Given the description of an element on the screen output the (x, y) to click on. 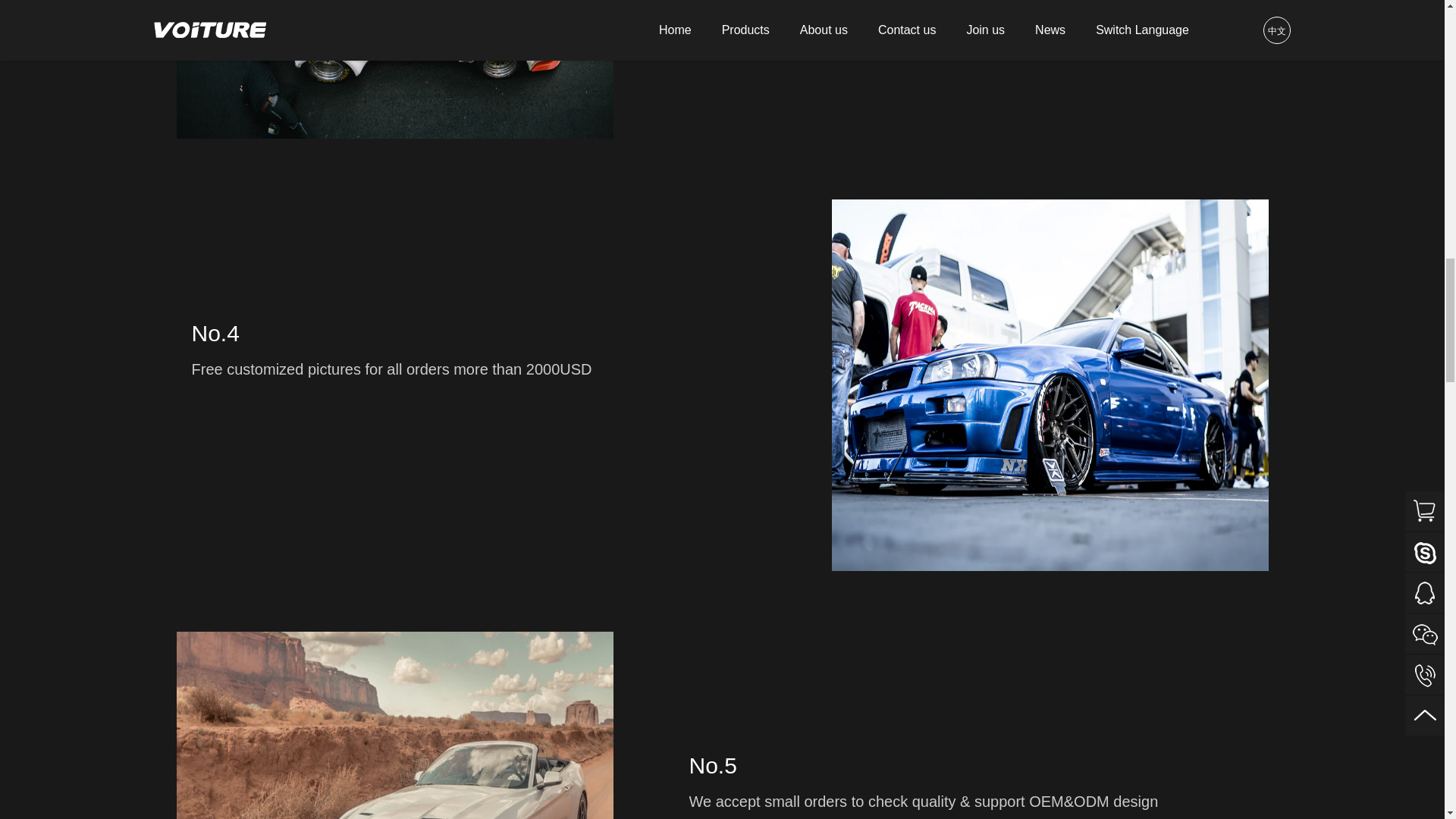
No.5 (394, 725)
No.3 (394, 69)
